Given the description of an element on the screen output the (x, y) to click on. 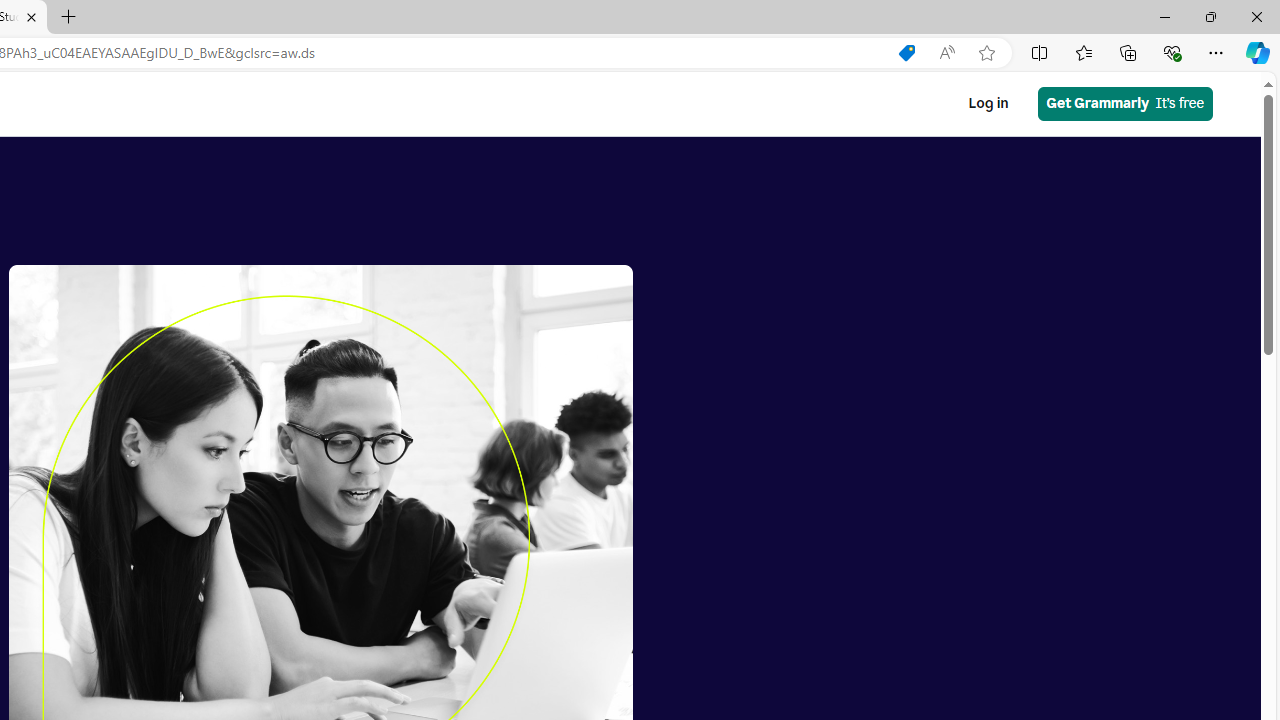
Log in (987, 103)
